Given the description of an element on the screen output the (x, y) to click on. 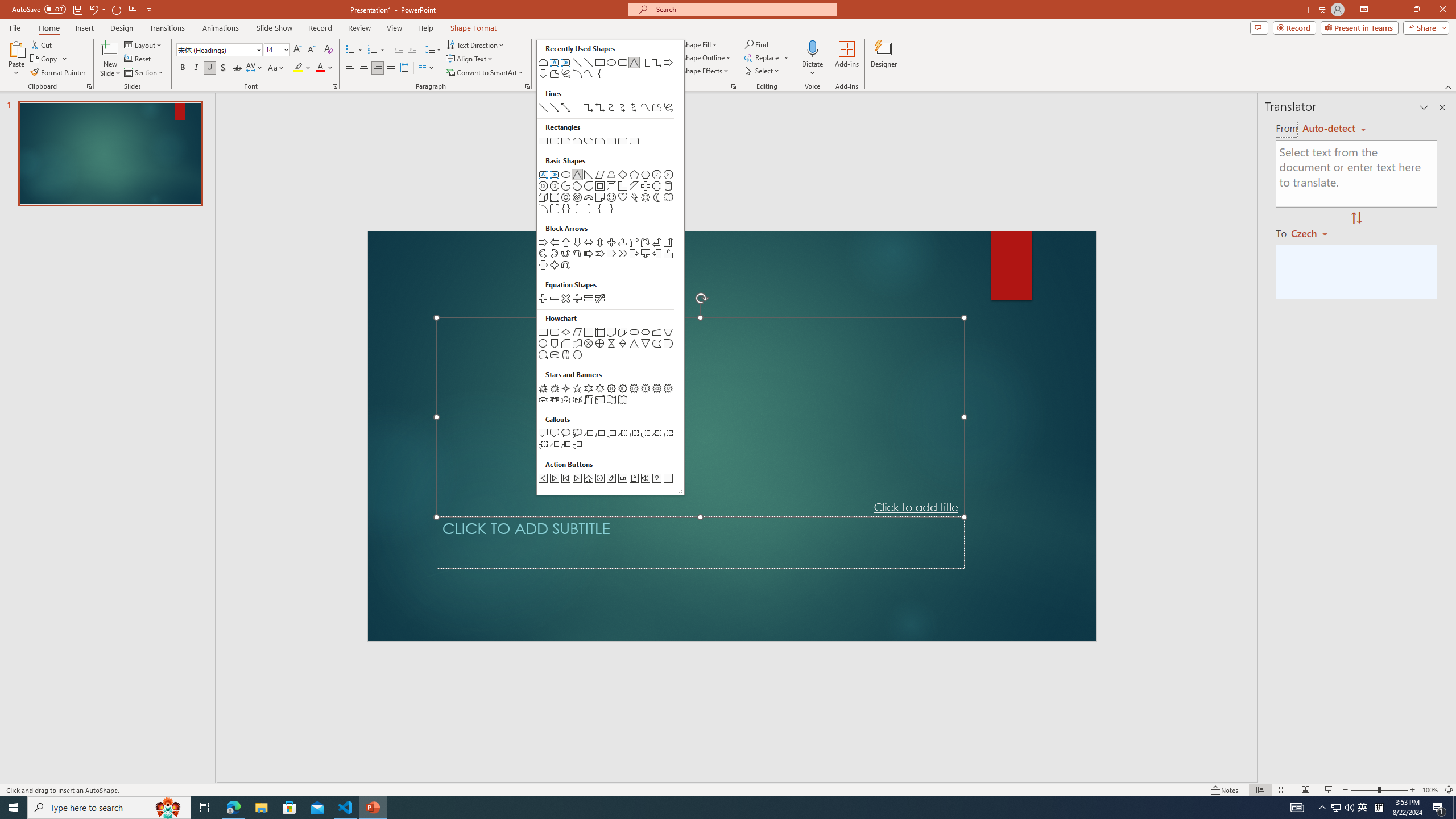
Office Clipboard... (88, 85)
Shape Format (473, 28)
Decrease Indent (398, 49)
Line Spacing (433, 49)
Microsoft Edge - 1 running window (233, 807)
